Given the description of an element on the screen output the (x, y) to click on. 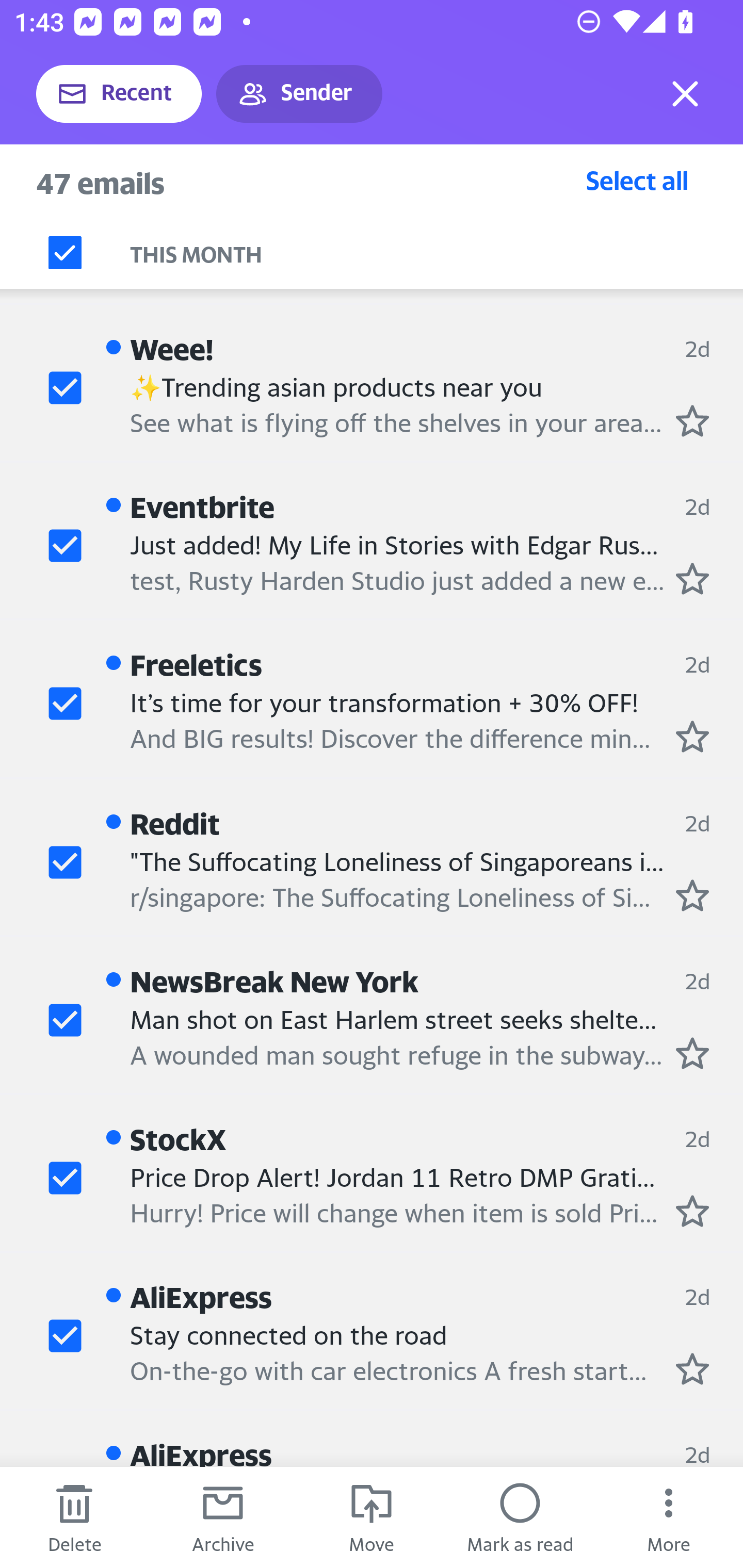
Sender (299, 93)
Exit selection mode (684, 93)
Select all (637, 180)
Mark as starred. (692, 420)
Mark as starred. (692, 579)
Mark as starred. (692, 736)
Mark as starred. (692, 896)
Mark as starred. (692, 1052)
Mark as starred. (692, 1211)
Mark as starred. (692, 1369)
Delete (74, 1517)
Archive (222, 1517)
Move (371, 1517)
Mark as read (519, 1517)
More (668, 1517)
